Given the description of an element on the screen output the (x, y) to click on. 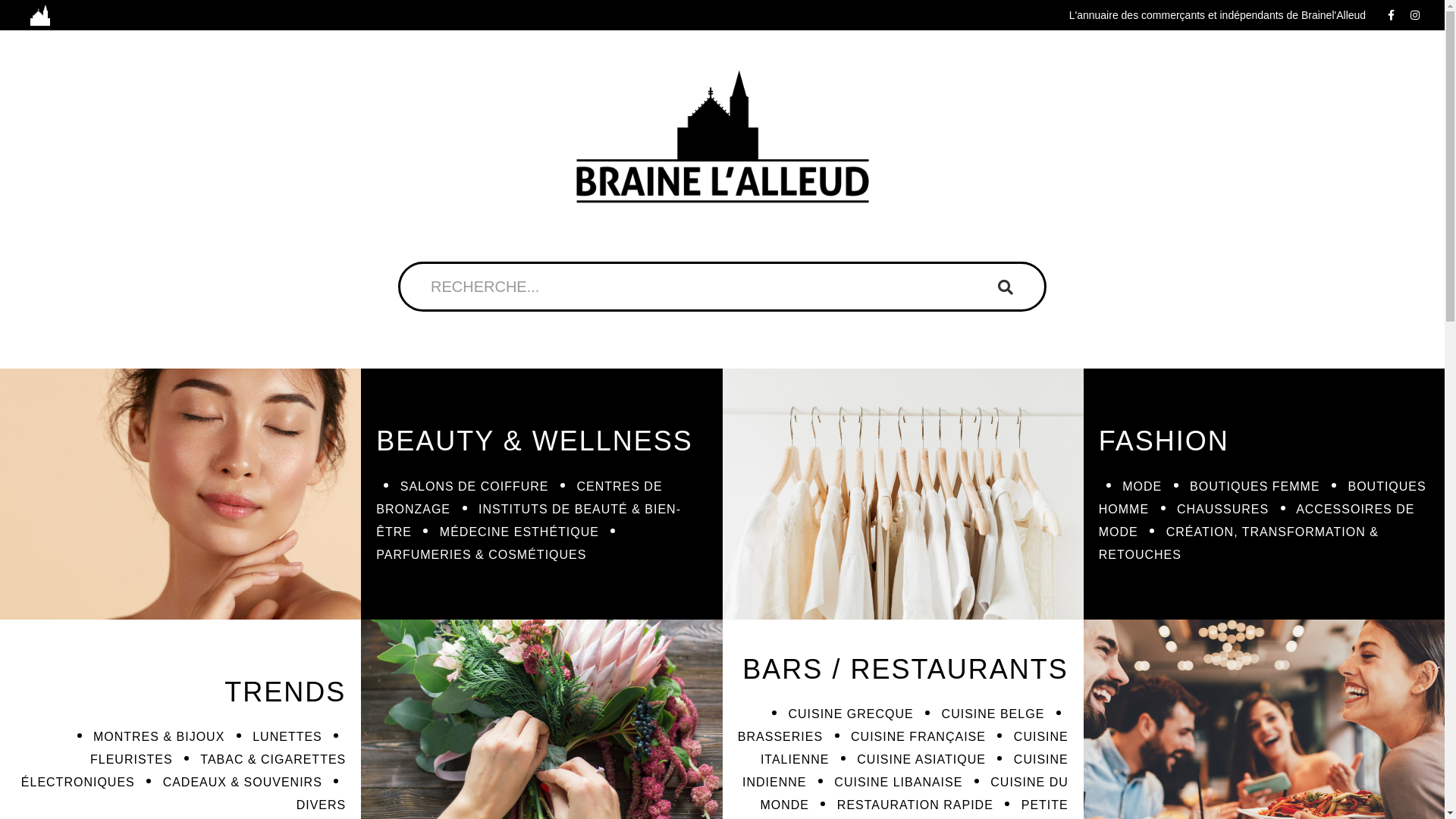
BOUTIQUES FEMME Element type: text (1254, 486)
CENTRES DE BRONZAGE Element type: text (519, 497)
RESTAURATION RAPIDE Element type: text (915, 804)
BARS / RESTAURANTS Element type: text (904, 668)
LUNETTES Element type: text (287, 736)
BOUTIQUES HOMME Element type: text (1262, 497)
CUISINE INDIENNE Element type: text (905, 770)
BRASSERIES Element type: text (779, 736)
CUISINE ASIATIQUE Element type: text (920, 759)
ACCESSOIRES DE MODE Element type: text (1256, 520)
CUISINE ITALIENNE Element type: text (914, 747)
FLEURISTES Element type: text (131, 759)
DIVERS Element type: text (321, 804)
CUISINE DU MONDE Element type: text (913, 793)
CUISINE BELGE Element type: text (992, 713)
BEAUTY & WELLNESS Element type: text (534, 440)
SALONS DE COIFFURE Element type: text (474, 486)
CUISINE LIBANAISE Element type: text (898, 781)
MONTRES & BIJOUX Element type: text (158, 736)
CUISINE GRECQUE Element type: text (850, 713)
CADEAUX & SOUVENIRS Element type: text (242, 781)
FASHION Element type: text (1163, 440)
CHAUSSURES Element type: text (1222, 508)
MODE Element type: text (1141, 486)
TRENDS Element type: text (284, 691)
